Given the description of an element on the screen output the (x, y) to click on. 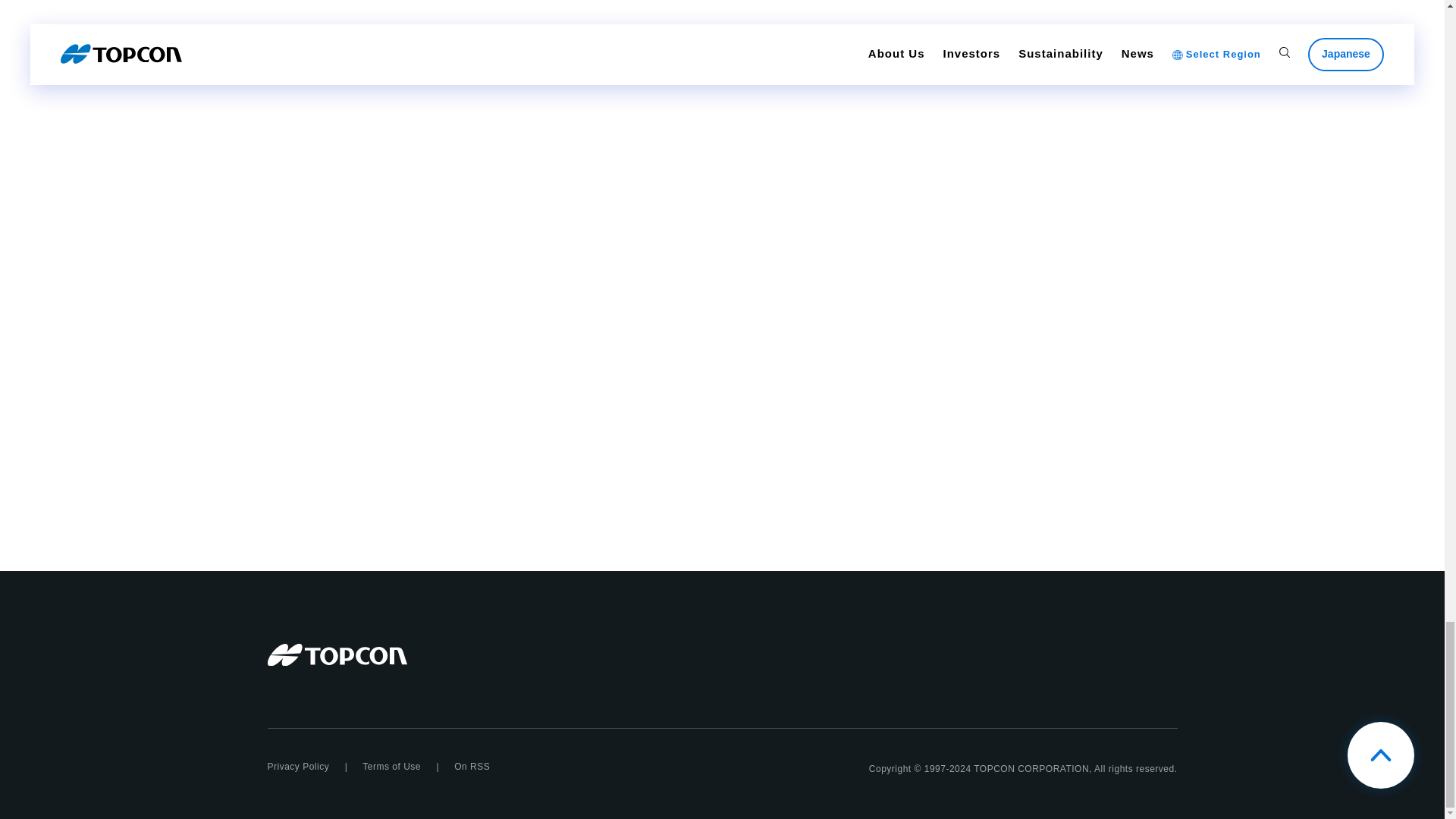
On RSS (471, 766)
Terms of Use (391, 766)
submit (946, 98)
Privacy Policy (297, 766)
